Given the description of an element on the screen output the (x, y) to click on. 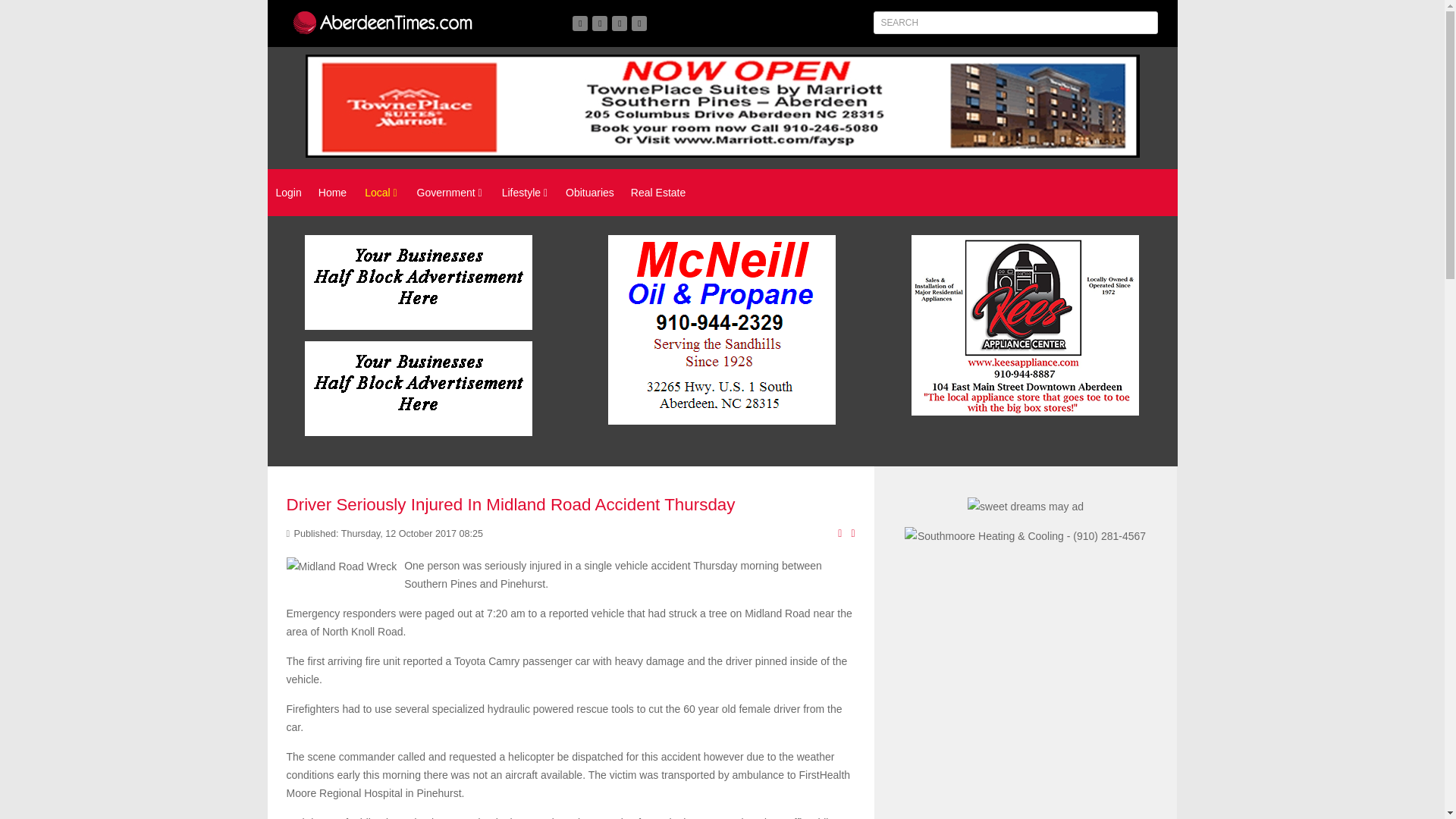
Local (380, 192)
Home (332, 192)
Government (449, 192)
Driver Seriously Injured In Midland Road Accident Thursday (510, 504)
Real Estate (658, 192)
Login (287, 192)
Obituaries (589, 192)
Lifestyle (524, 192)
